Given the description of an element on the screen output the (x, y) to click on. 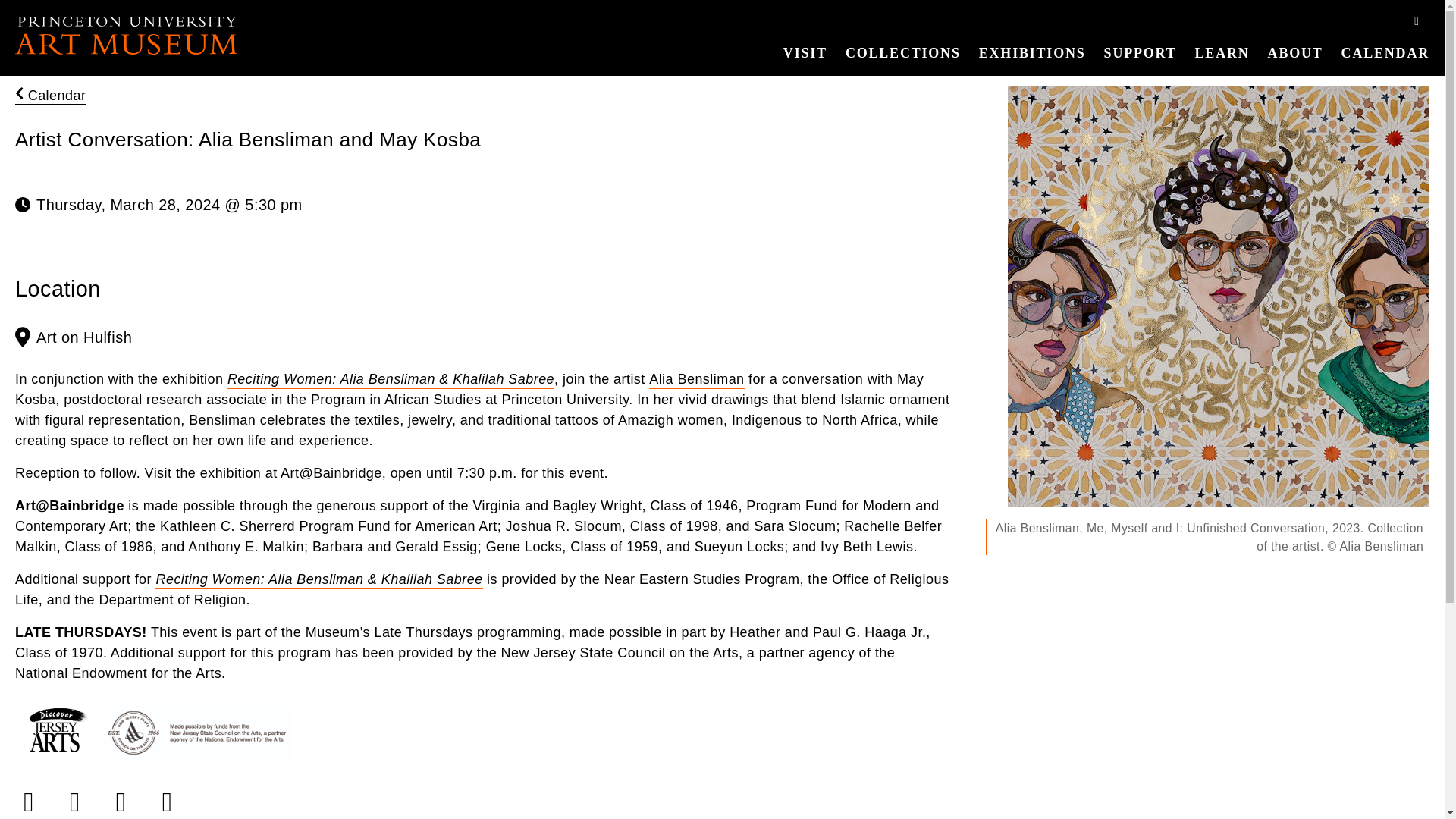
EXHIBITIONS (1031, 53)
Home (125, 35)
COLLECTIONS (902, 53)
VISIT (804, 53)
SUPPORT (1140, 53)
LEARN (1222, 53)
Toggle Search (1417, 20)
Princeton University Art Museum (125, 35)
